Given the description of an element on the screen output the (x, y) to click on. 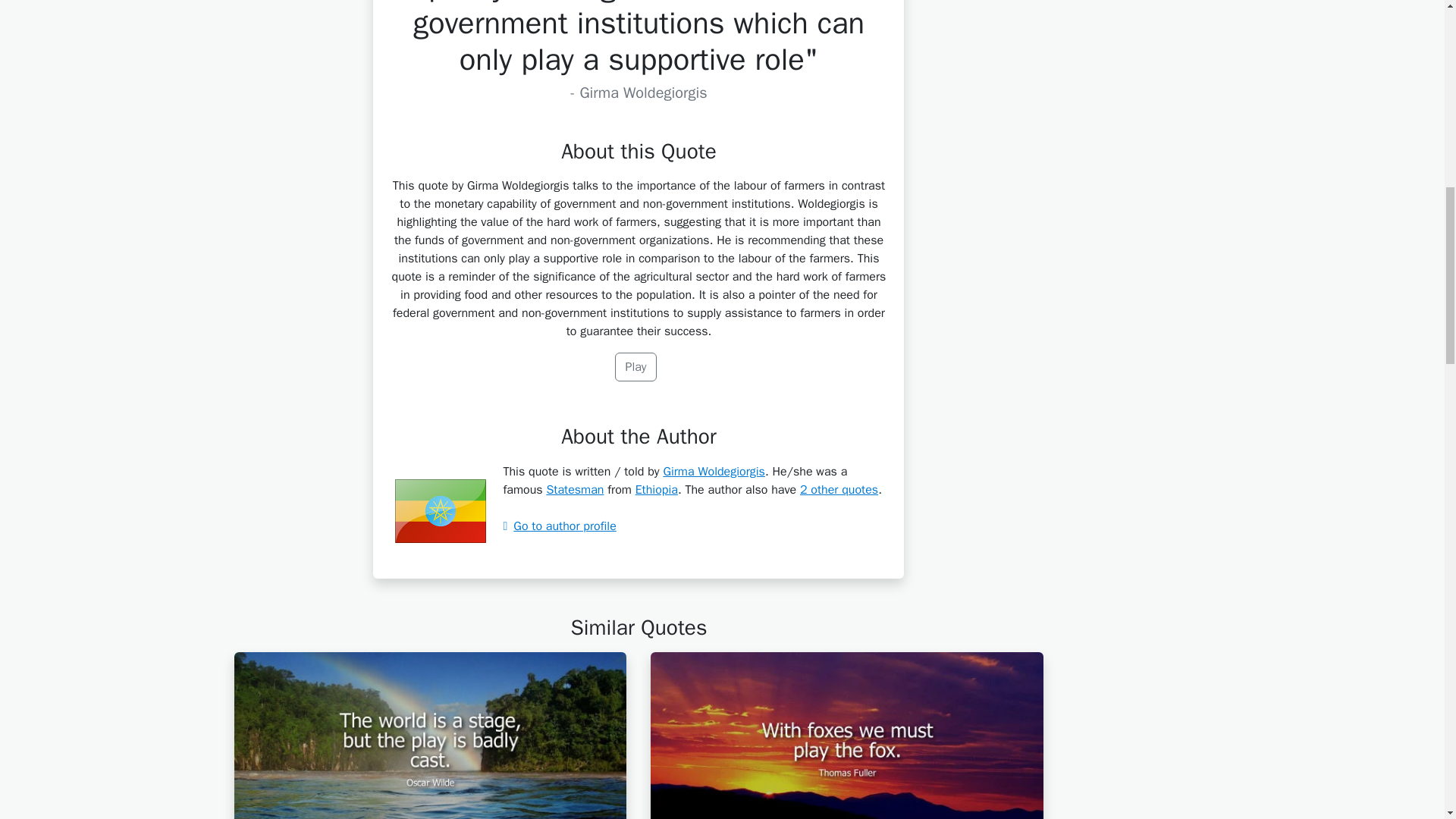
2 other quotes (838, 489)
Ethiopia (656, 489)
Go to author profile (558, 525)
Girma Woldegiorgis (713, 471)
Play (635, 366)
Statesman (575, 489)
